Given the description of an element on the screen output the (x, y) to click on. 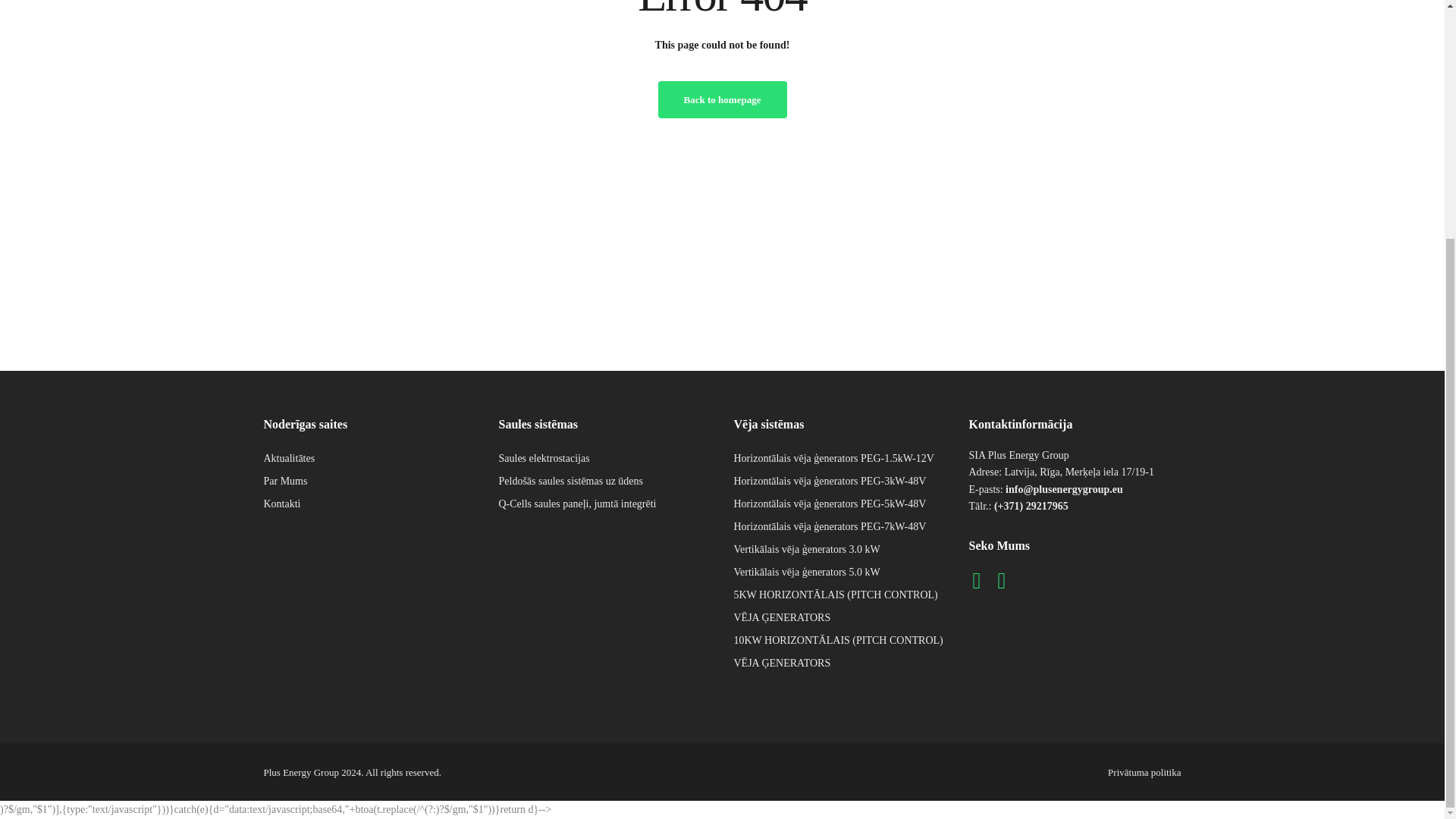
Kontakti (282, 503)
Back to homepage (722, 99)
Par Mums (285, 480)
Saules elektrostacijas (544, 458)
